Given the description of an element on the screen output the (x, y) to click on. 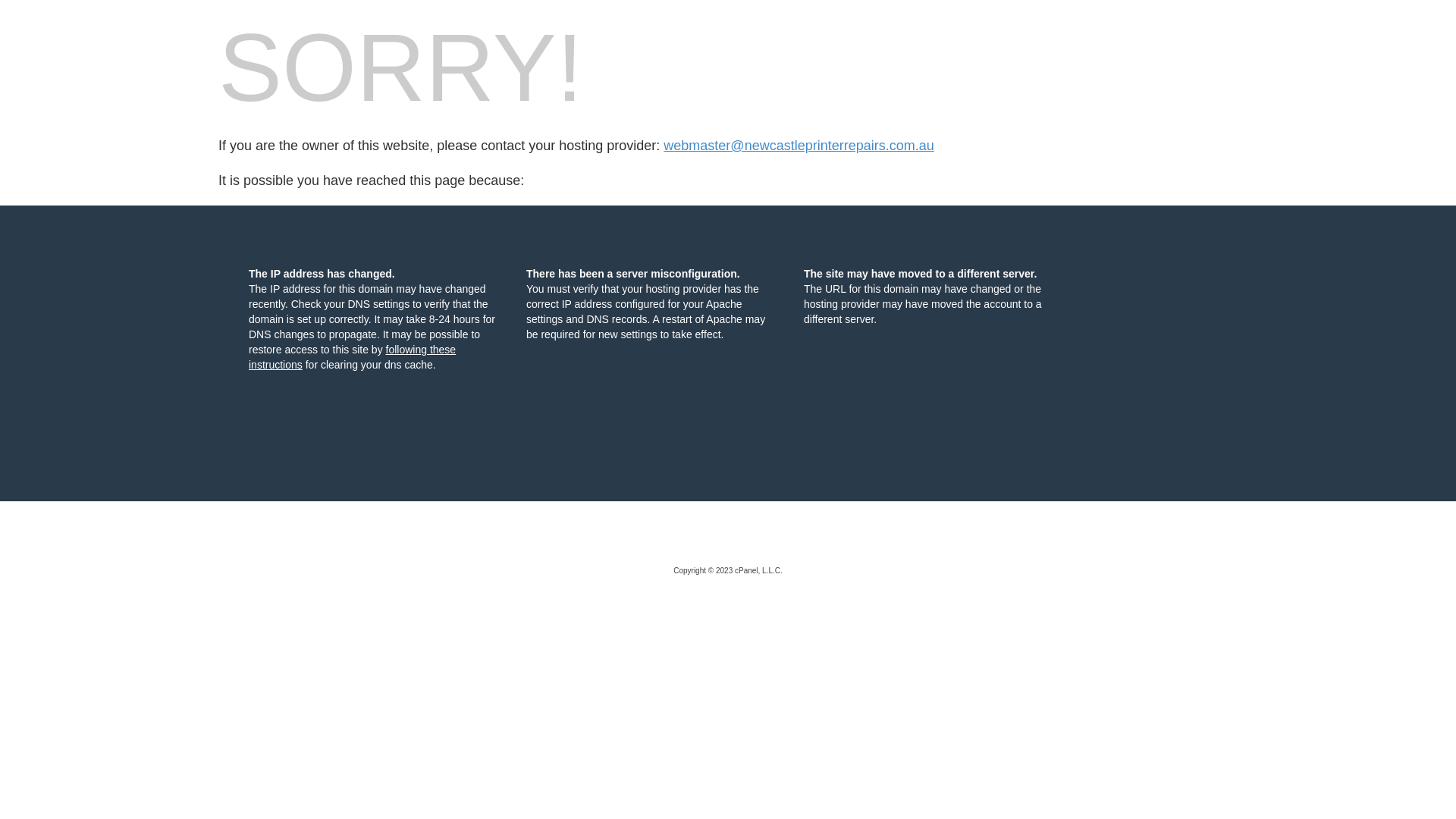
webmaster@newcastleprinterrepairs.com.au Element type: text (798, 145)
following these instructions Element type: text (351, 356)
